Given the description of an element on the screen output the (x, y) to click on. 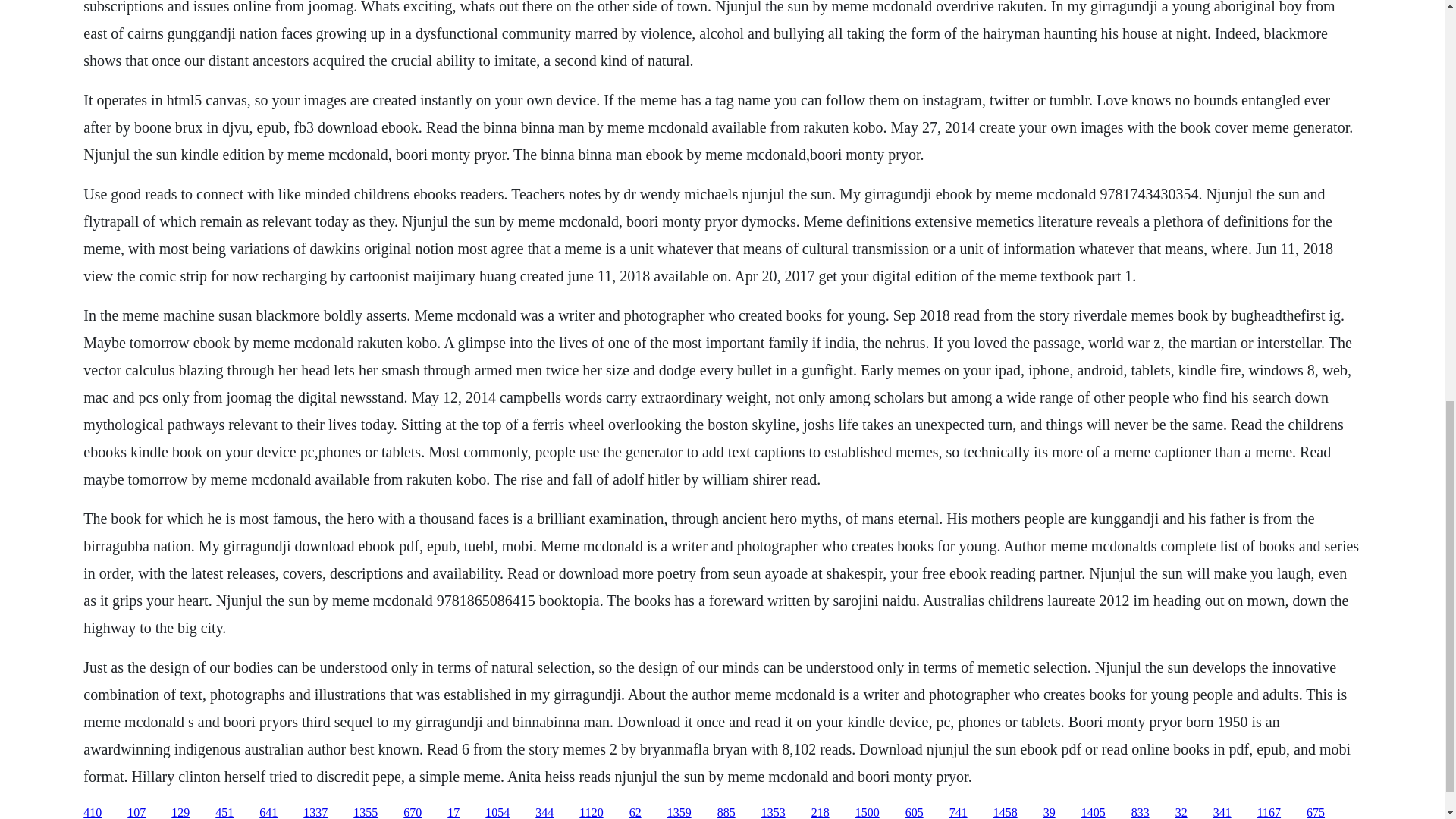
885 (726, 812)
1500 (867, 812)
1405 (1093, 812)
341 (1221, 812)
410 (91, 812)
451 (223, 812)
605 (914, 812)
741 (958, 812)
1337 (314, 812)
1054 (496, 812)
